Given the description of an element on the screen output the (x, y) to click on. 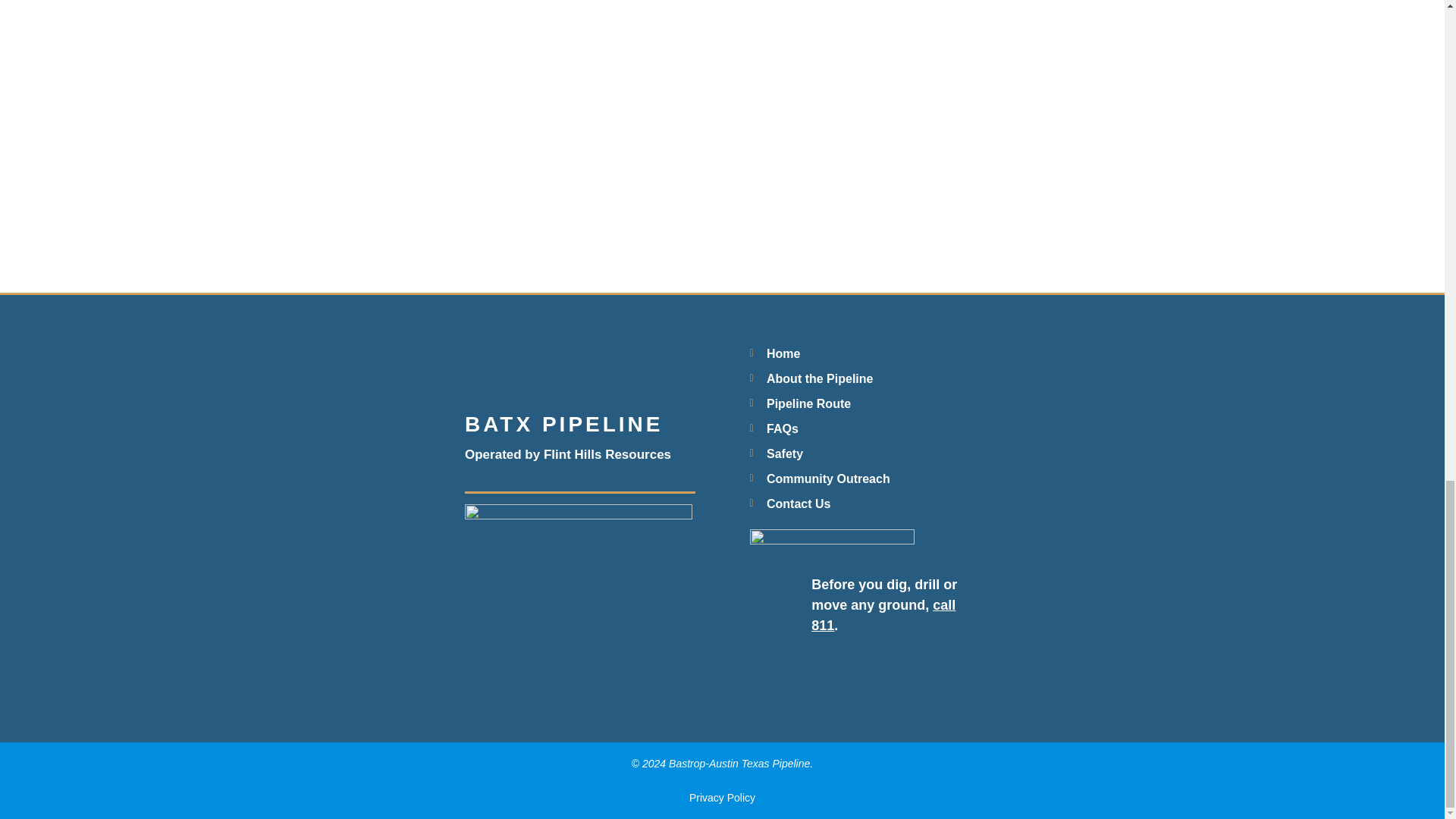
About the Pipeline (864, 378)
BATX PIPELINE (563, 423)
Pipeline Route (864, 403)
Home (864, 353)
